Given the description of an element on the screen output the (x, y) to click on. 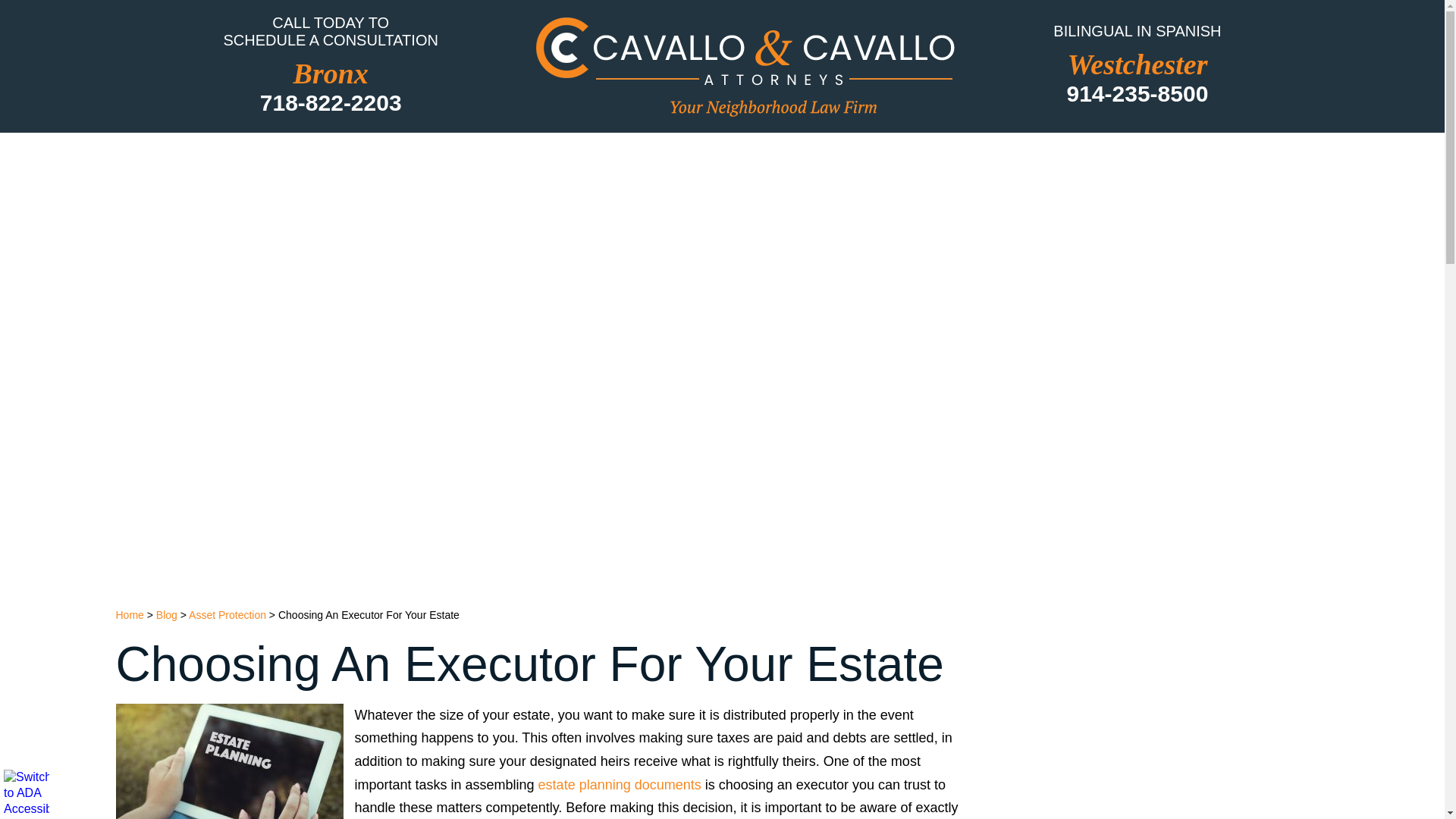
CONTACT US (1113, 154)
914-235-8500 (1136, 93)
ATTORNEY PROFILES (464, 154)
Switch to ADA Accessible Theme (26, 791)
Home (128, 614)
PRACTICE AREAS (673, 154)
Blog (166, 614)
718-822-2203 (330, 102)
HOME (302, 154)
estate planning documents (619, 784)
Asset Protection (227, 614)
TESTIMONIALS (855, 154)
BLOG (987, 154)
